Given the description of an element on the screen output the (x, y) to click on. 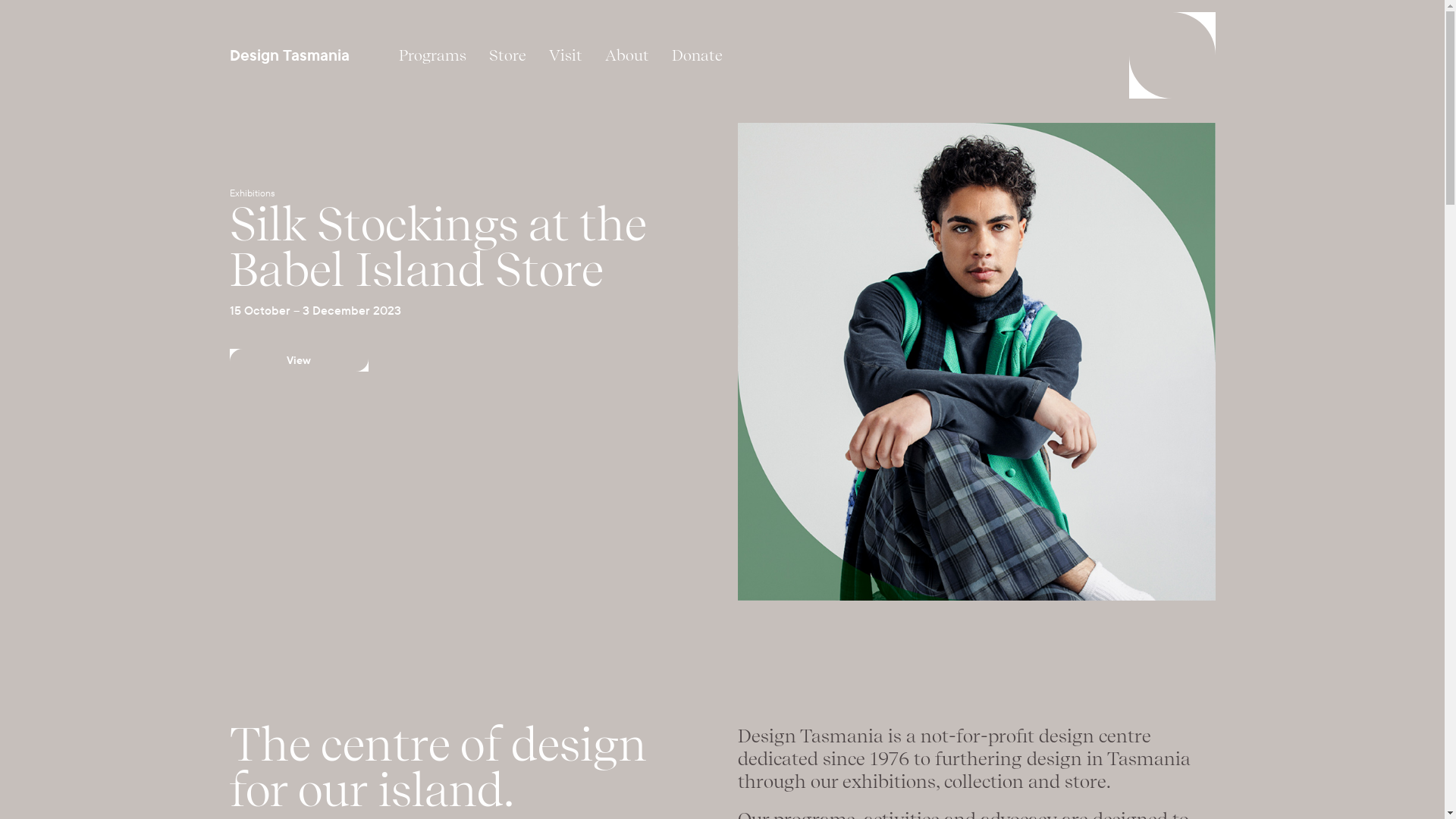
Programs Element type: text (431, 54)
Design Tasmania Element type: text (289, 54)
Menu Element type: text (1171, 55)
Visit Element type: text (564, 54)
About Element type: text (626, 54)
Donate Element type: text (696, 54)
View Element type: text (298, 359)
Store Element type: text (507, 54)
